Given the description of an element on the screen output the (x, y) to click on. 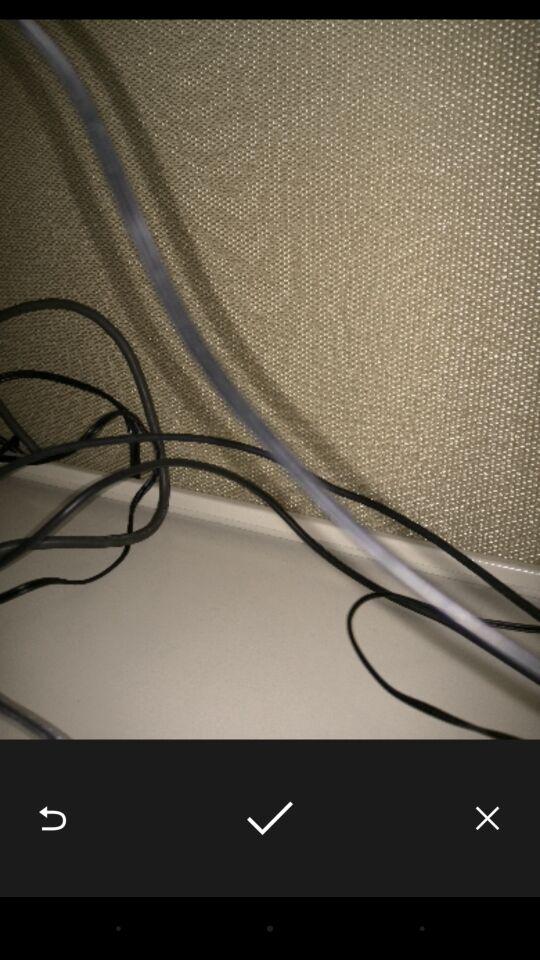
choose the icon at the bottom left corner (52, 817)
